Given the description of an element on the screen output the (x, y) to click on. 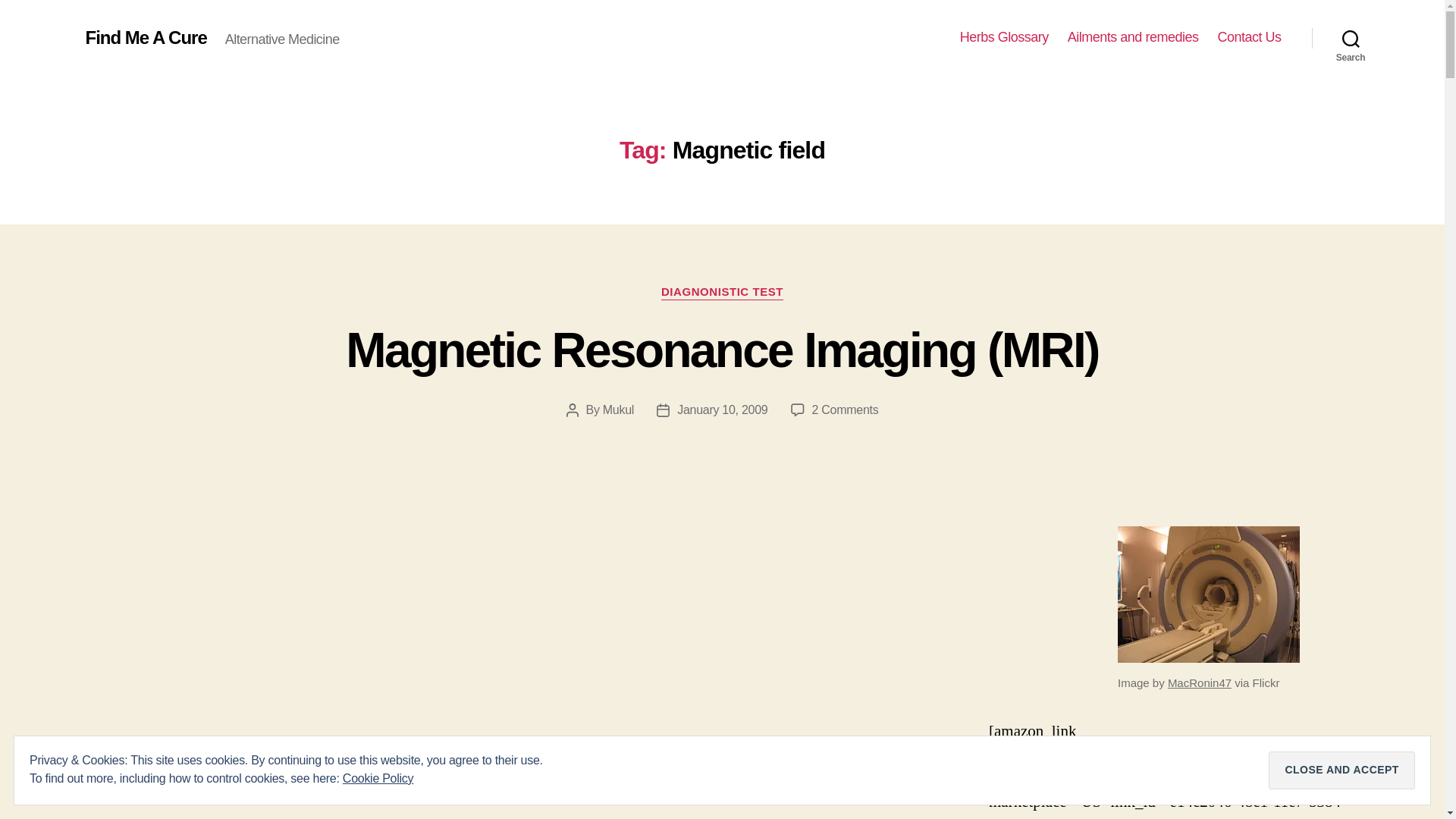
Search (1350, 37)
Close and accept (1341, 770)
Contact Us (1249, 37)
January 10, 2009 (722, 409)
DIAGNONISTIC TEST (722, 292)
Mukul (617, 409)
Find Me A Cure (145, 37)
fMRI - Functional magnetic resonance imaging s... (1209, 594)
Herbs Glossary (1003, 37)
MacRonin47 (1199, 682)
